Given the description of an element on the screen output the (x, y) to click on. 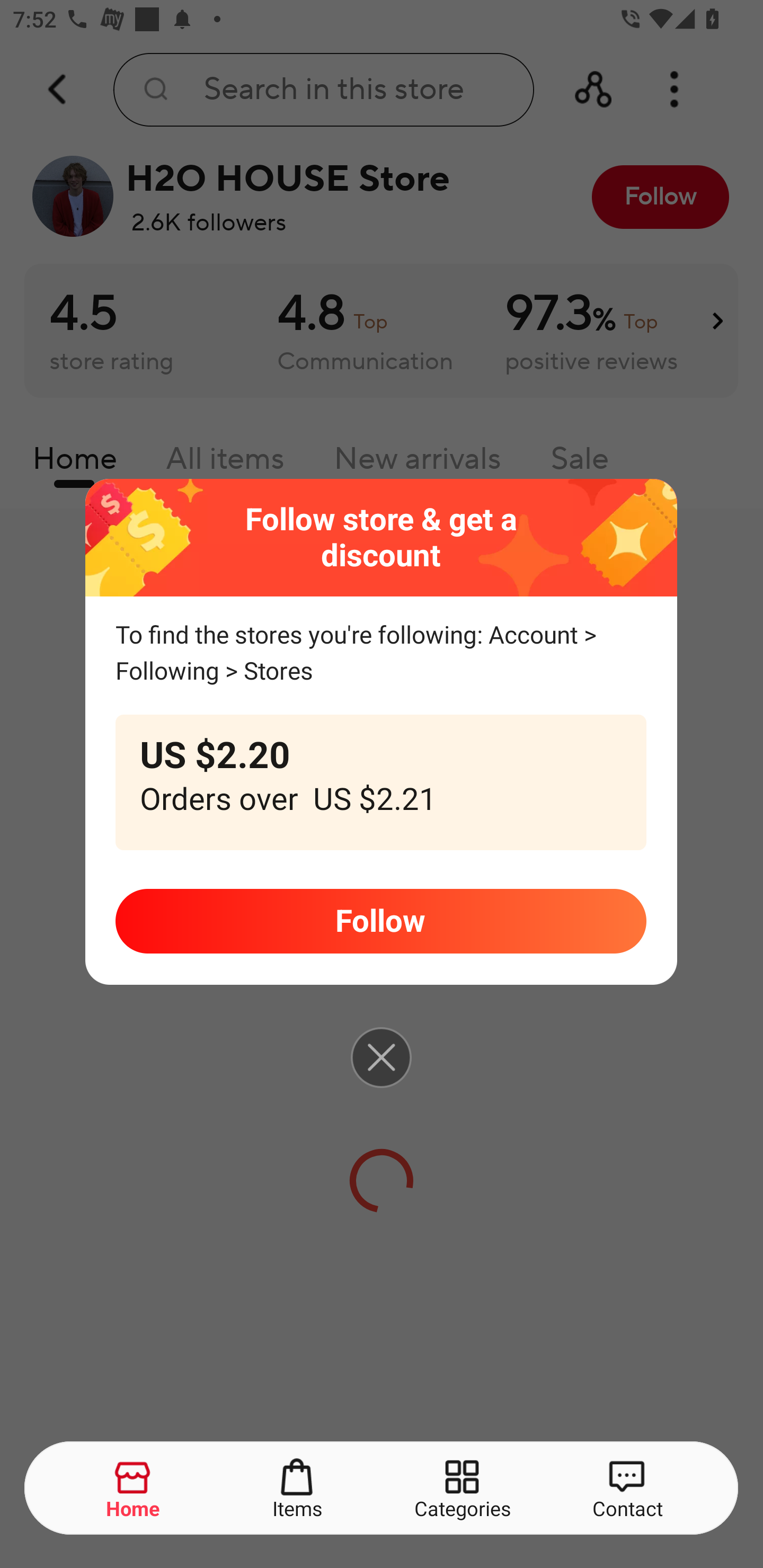
Follow (380, 921)
Home (133, 1488)
Items (297, 1488)
Categories (462, 1488)
Contact (627, 1488)
